Given the description of an element on the screen output the (x, y) to click on. 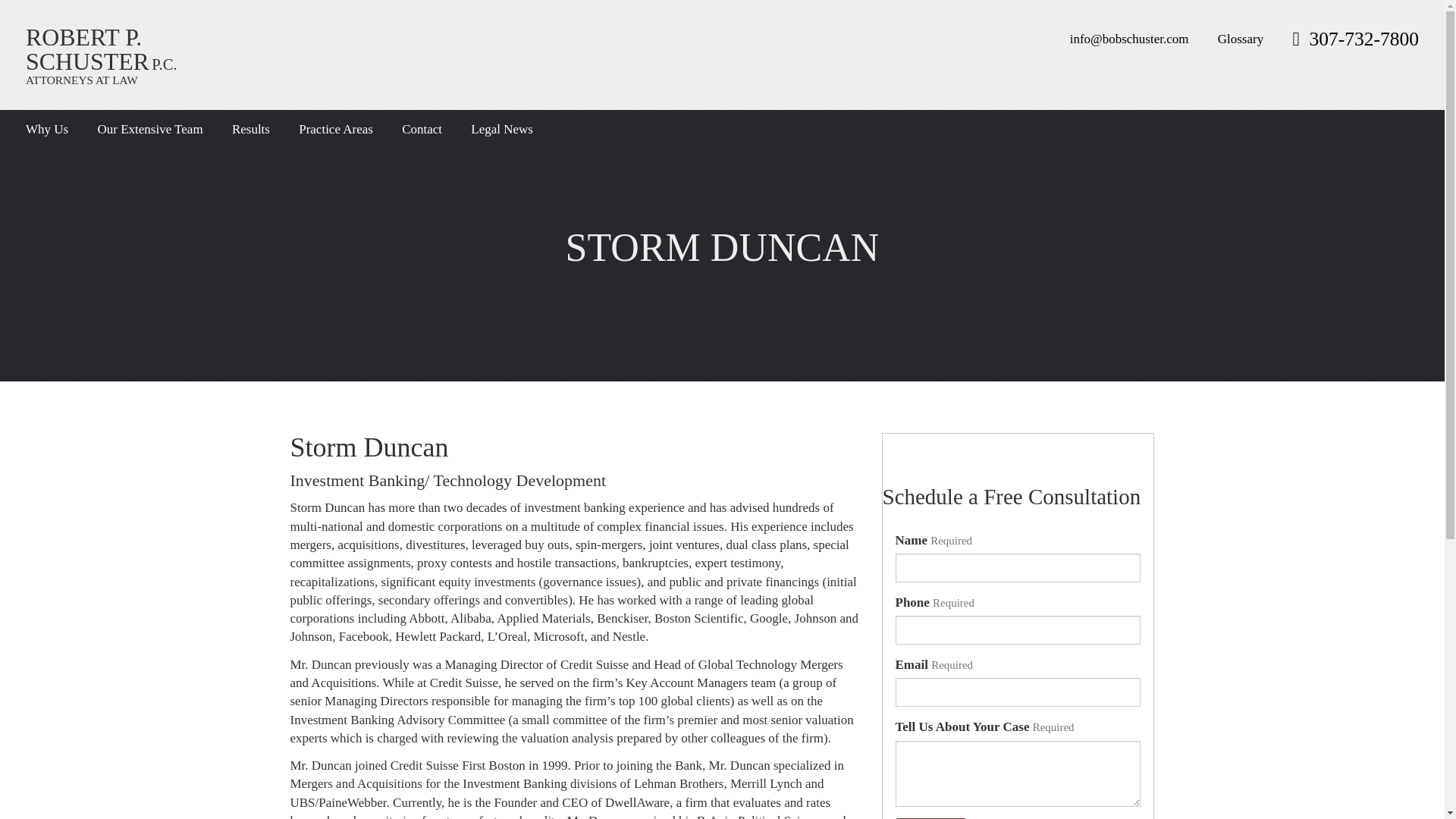
Results (250, 128)
Submit (930, 818)
Glossary (1240, 38)
Our Extensive Team (149, 128)
Practice Areas (335, 128)
Contact (421, 128)
307-732-7800 (1355, 38)
Submit (930, 818)
Why Us (102, 55)
